Given the description of an element on the screen output the (x, y) to click on. 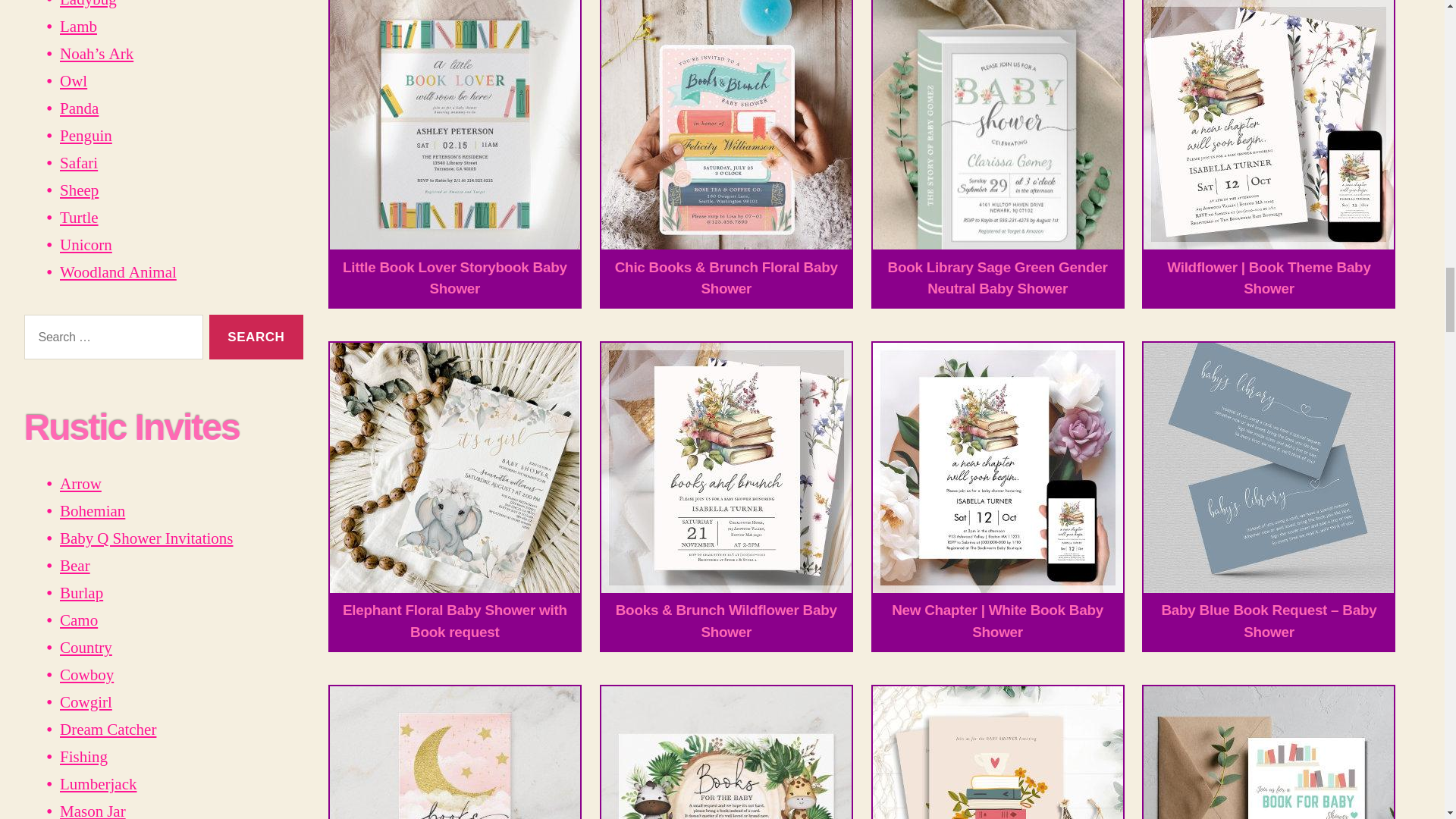
Search (255, 336)
Search (255, 336)
